Given the description of an element on the screen output the (x, y) to click on. 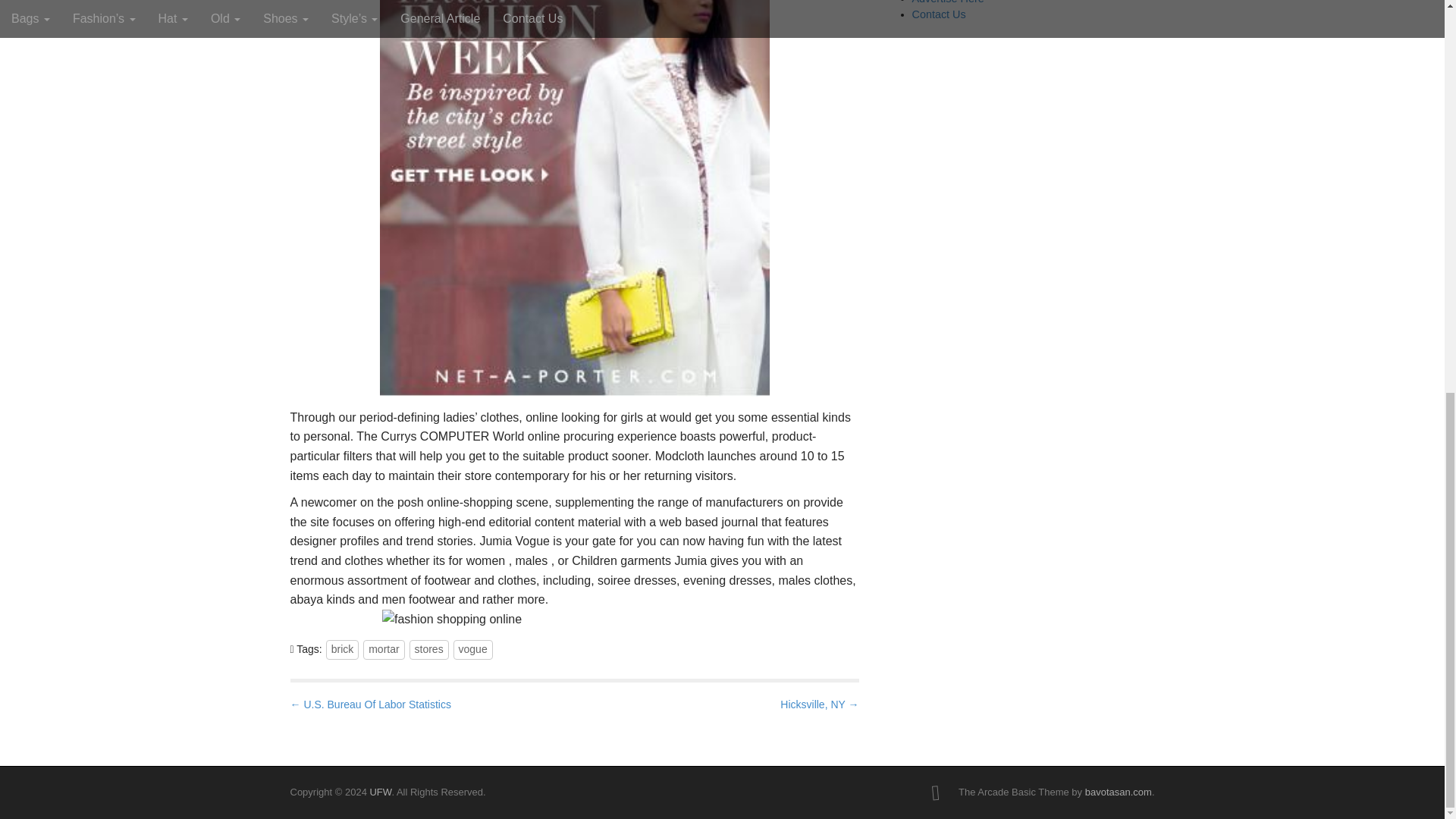
brick (342, 649)
vogue (472, 649)
stores (428, 649)
mortar (383, 649)
